Given the description of an element on the screen output the (x, y) to click on. 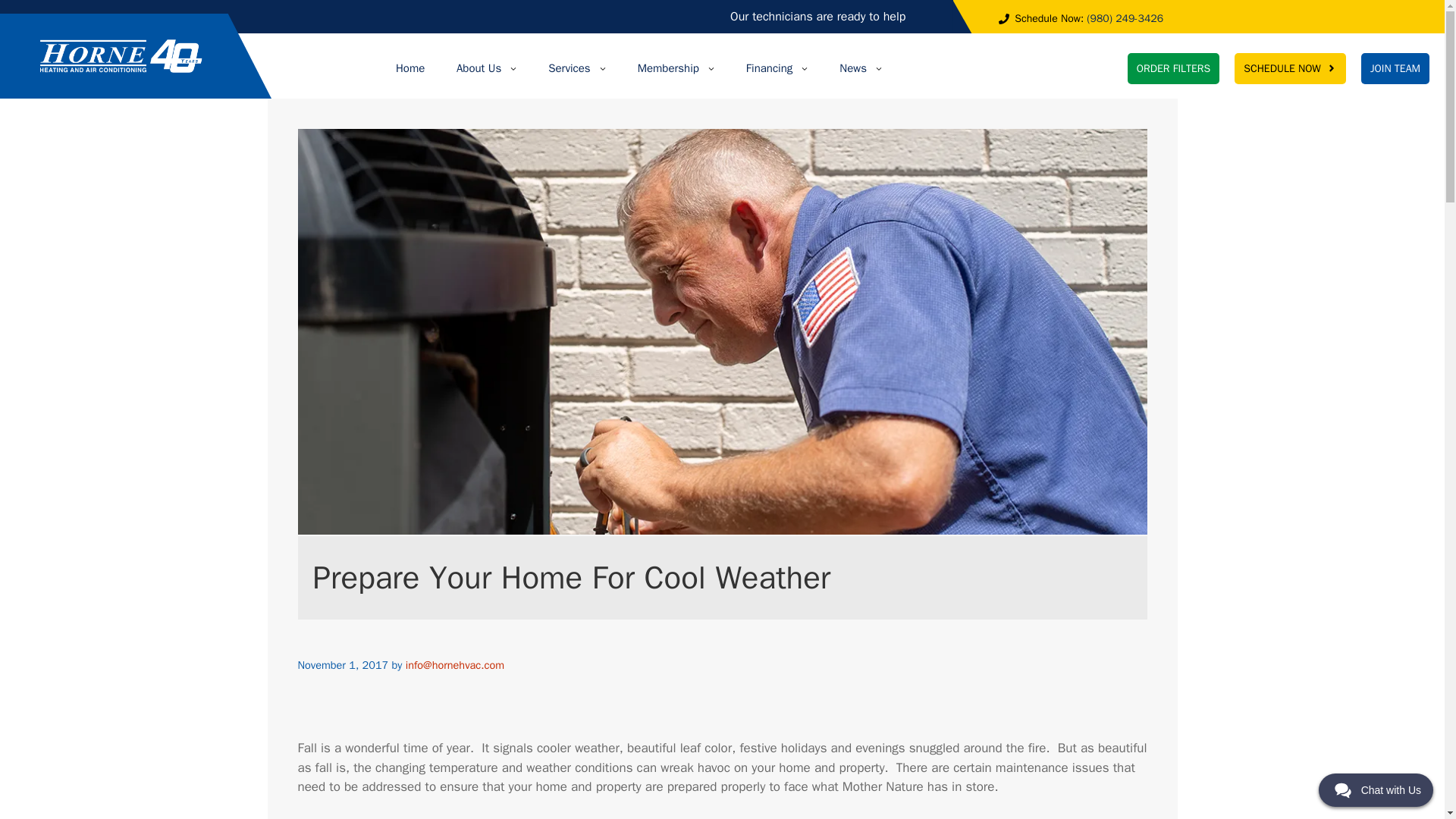
JOIN TEAM (1395, 68)
Home (410, 67)
Membership (676, 67)
Financing (777, 67)
Services (576, 67)
News (861, 67)
ORDER FILTERS (1173, 68)
About Us (486, 67)
